Given the description of an element on the screen output the (x, y) to click on. 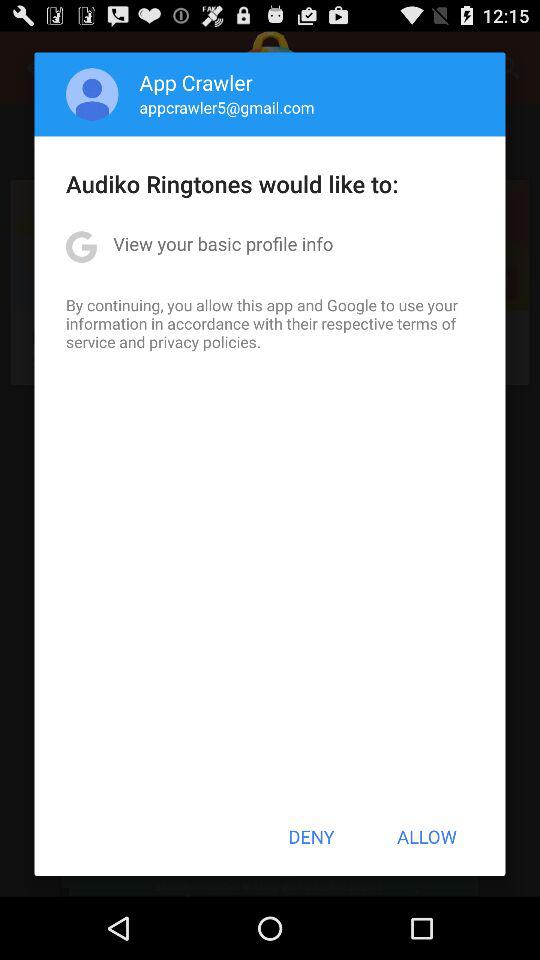
jump to the deny icon (311, 836)
